Given the description of an element on the screen output the (x, y) to click on. 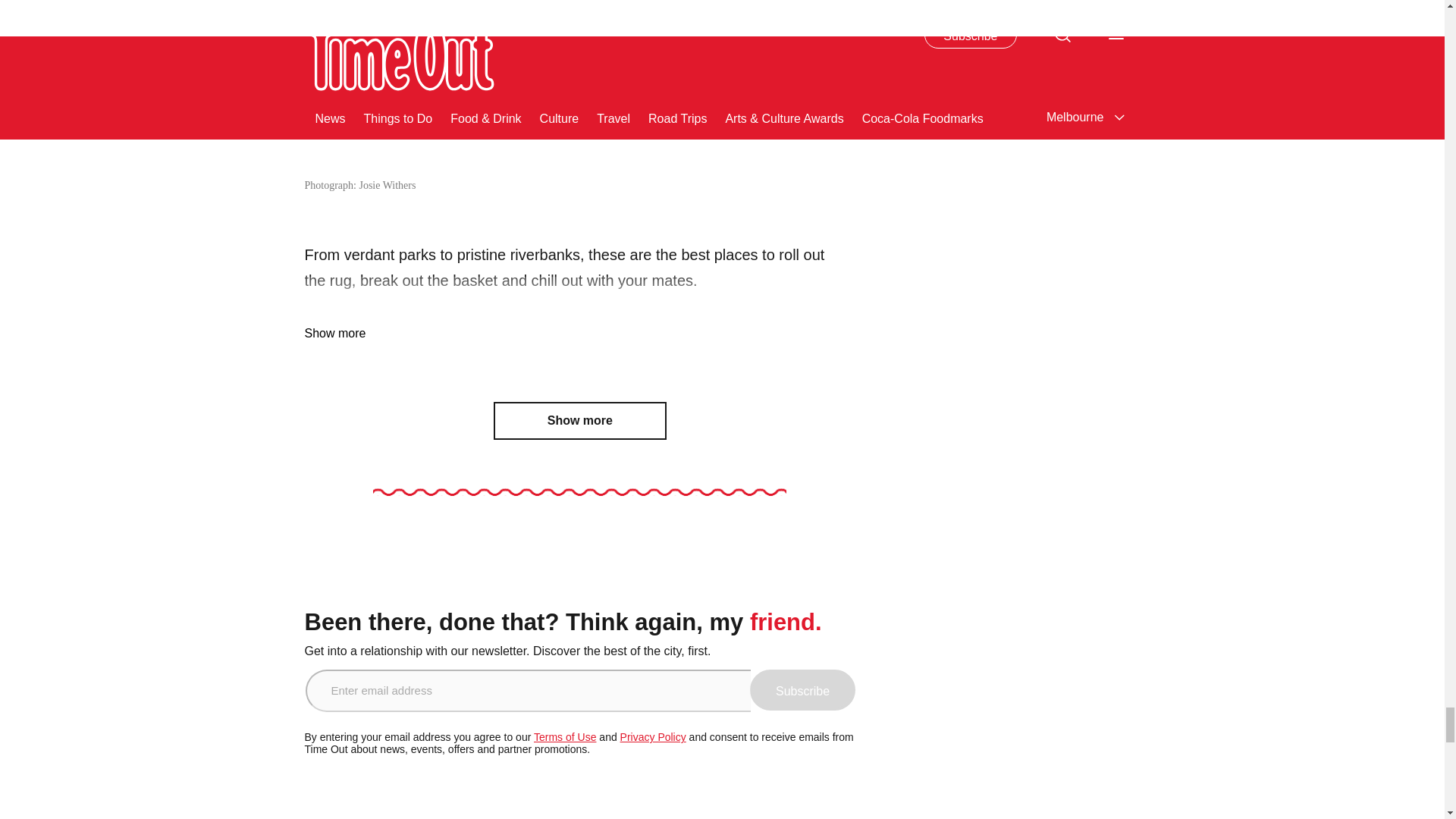
Subscribe (802, 689)
